Given the description of an element on the screen output the (x, y) to click on. 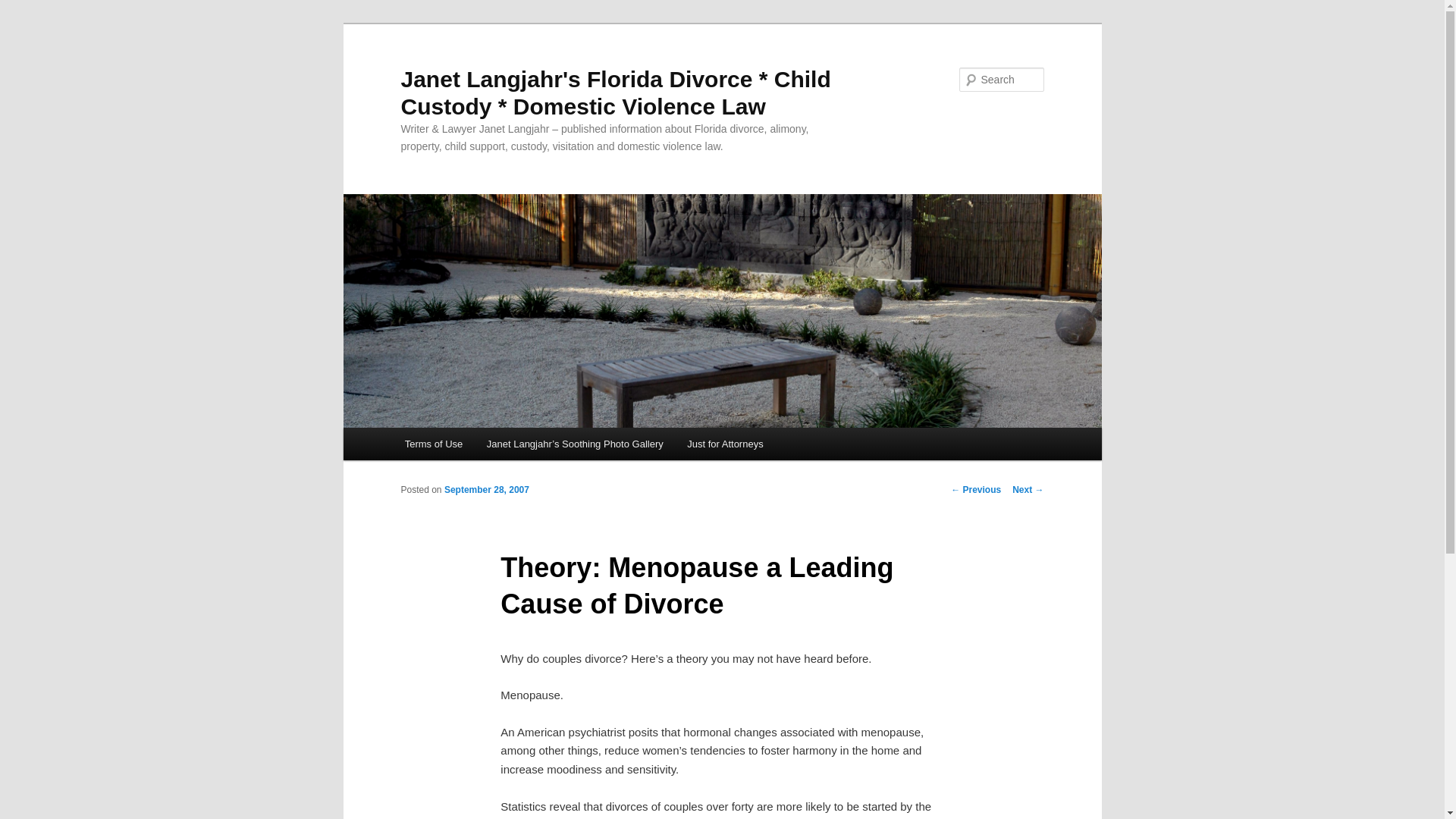
Just for Attorneys (724, 443)
3:31 pm (486, 489)
September 28, 2007 (486, 489)
Search (24, 8)
Terms of Use (433, 443)
